Given the description of an element on the screen output the (x, y) to click on. 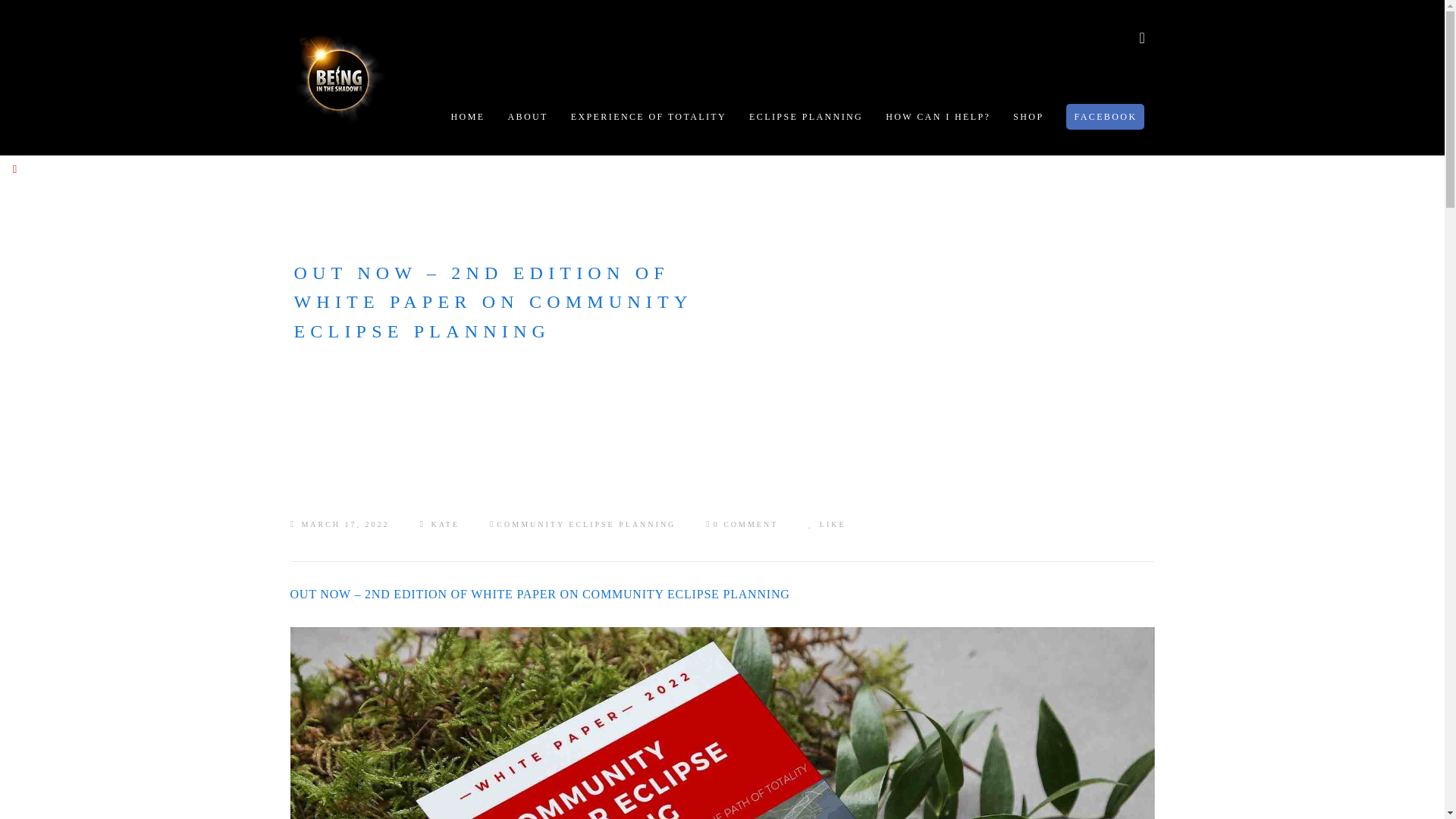
Like (826, 524)
EXPERIENCE OF TOTALITY (648, 116)
